Given the description of an element on the screen output the (x, y) to click on. 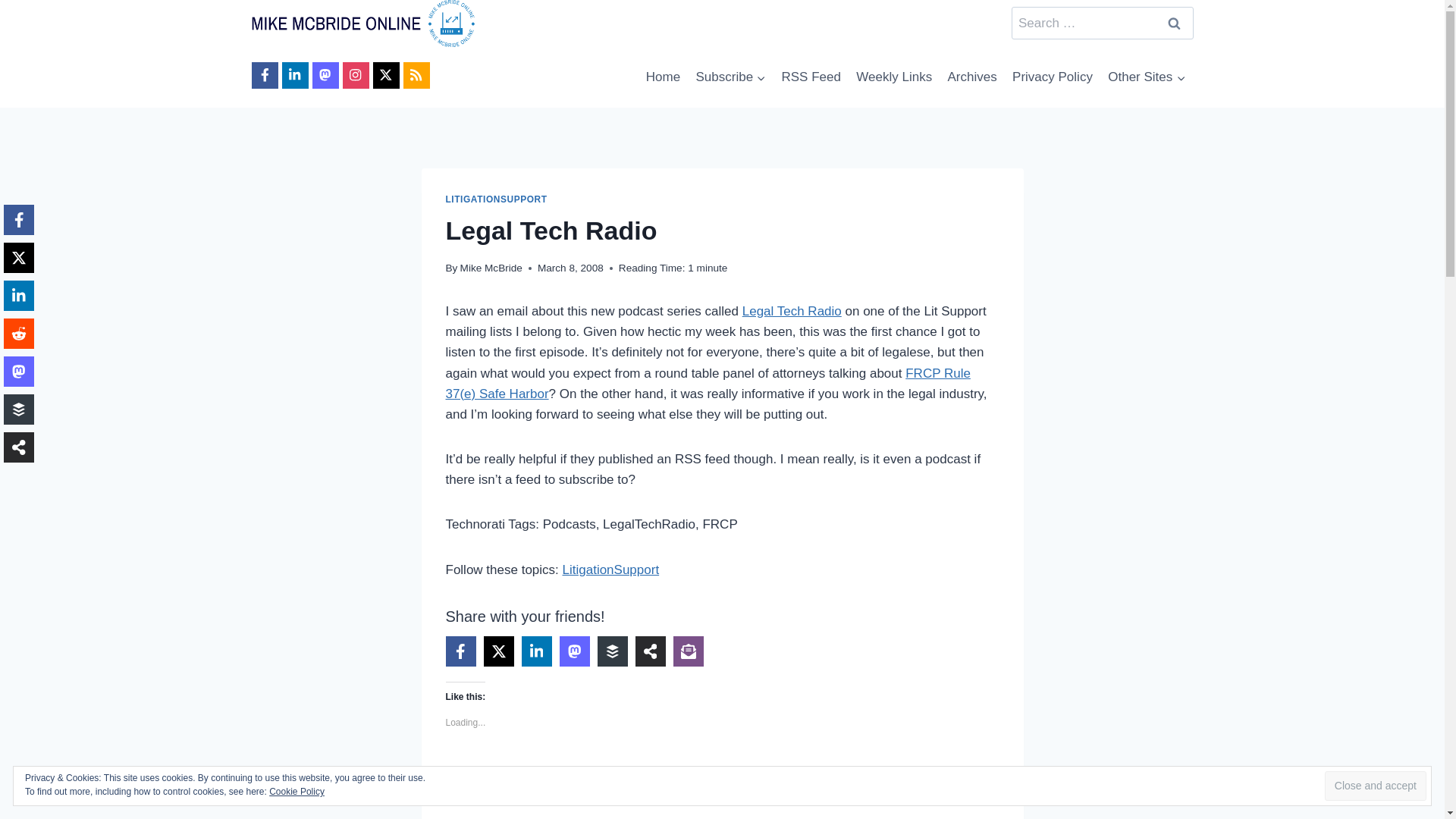
Mike McBride (491, 267)
Legal Tech Radio (791, 310)
RSS (527, 784)
Other Sites (1146, 76)
Search (1174, 22)
Search (1174, 22)
RSS Feed (810, 76)
Weekly Links (893, 76)
LitigationSupport (610, 569)
Search (1174, 22)
Home (663, 76)
Archives (971, 76)
Close and accept (1375, 785)
Podcast (473, 784)
Subscribe (730, 76)
